Given the description of an element on the screen output the (x, y) to click on. 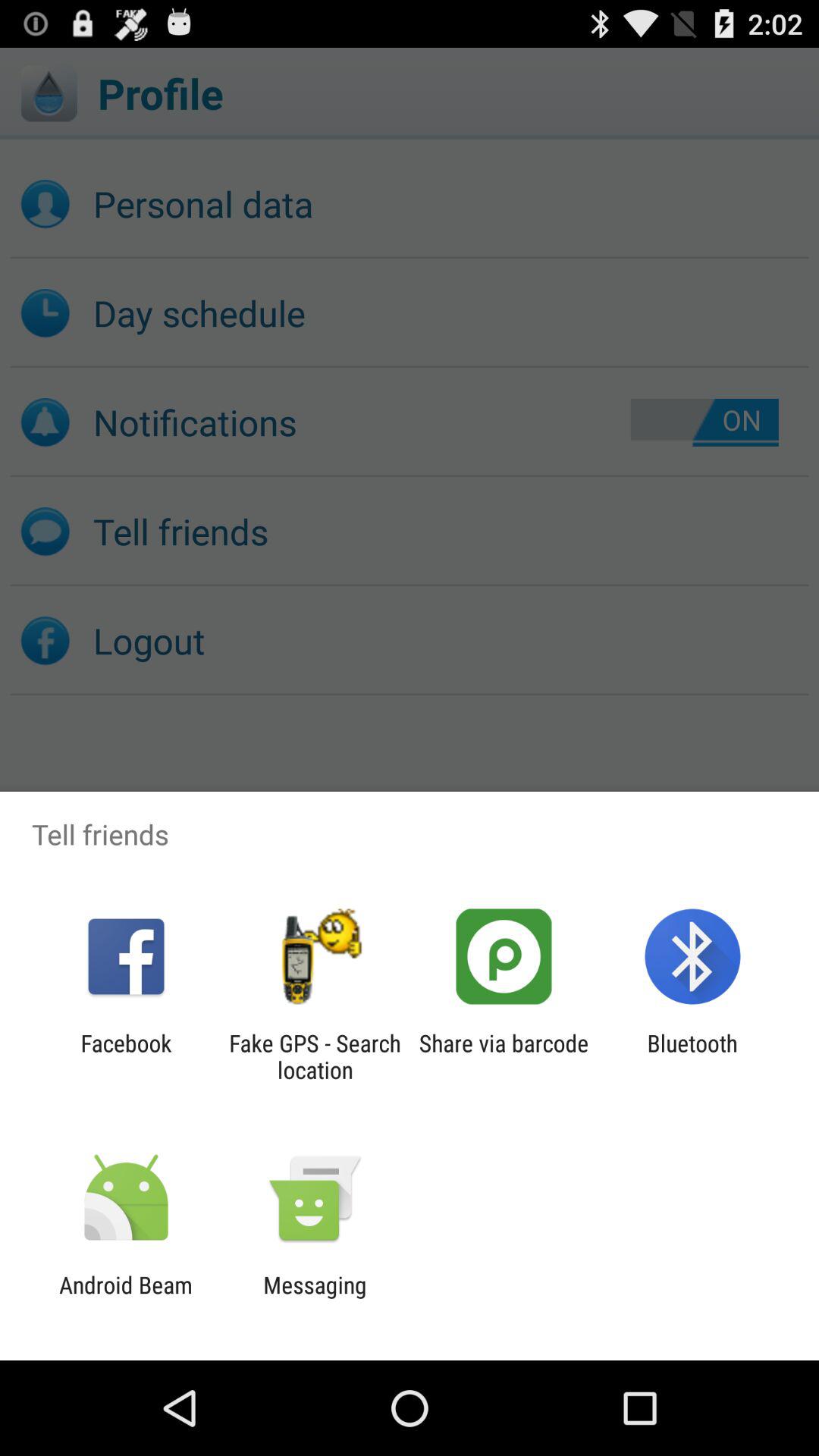
press app at the bottom right corner (692, 1056)
